Given the description of an element on the screen output the (x, y) to click on. 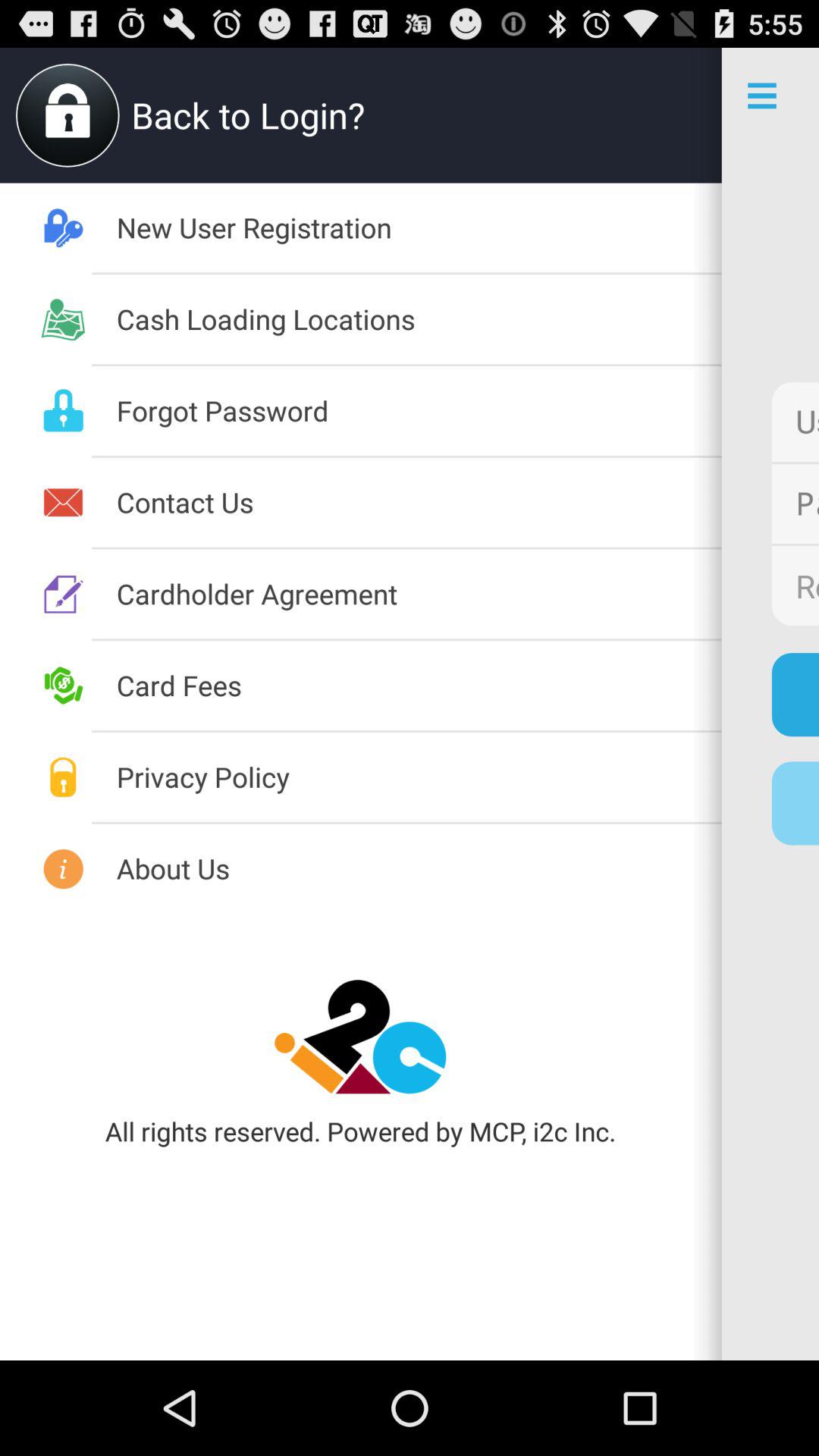
select the privacy policy icon (418, 776)
